Given the description of an element on the screen output the (x, y) to click on. 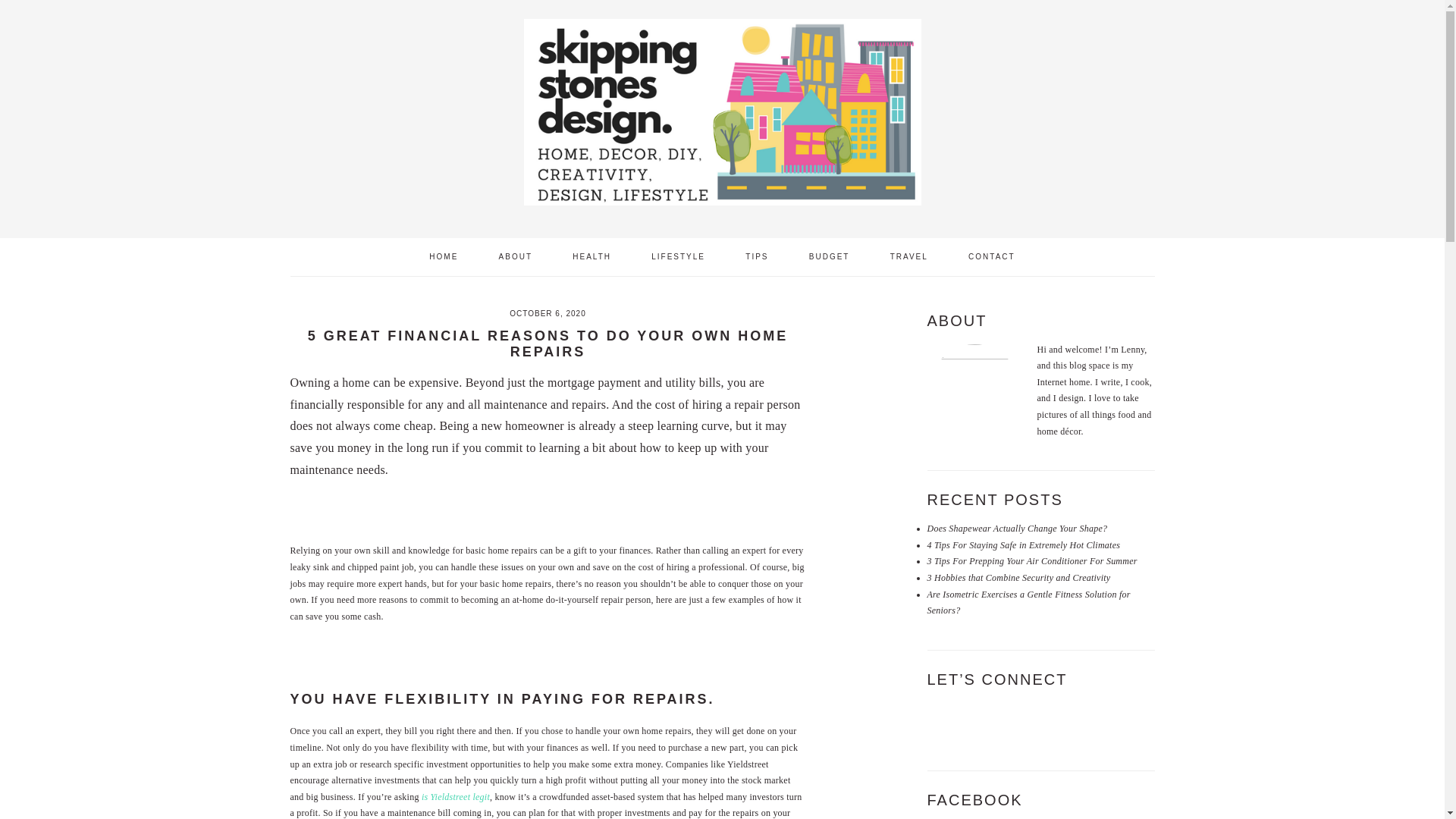
HOME (443, 257)
3 Tips For Prepping Your Air Conditioner For Summer (1031, 561)
LIFESTYLE (677, 257)
is Yieldstreet legit (455, 796)
ABOUT (515, 257)
CONTACT (991, 257)
3 Hobbies that Combine Security and Creativity (1017, 577)
HEALTH (591, 257)
Does Shapewear Actually Change Your Shape? (1016, 528)
